Given the description of an element on the screen output the (x, y) to click on. 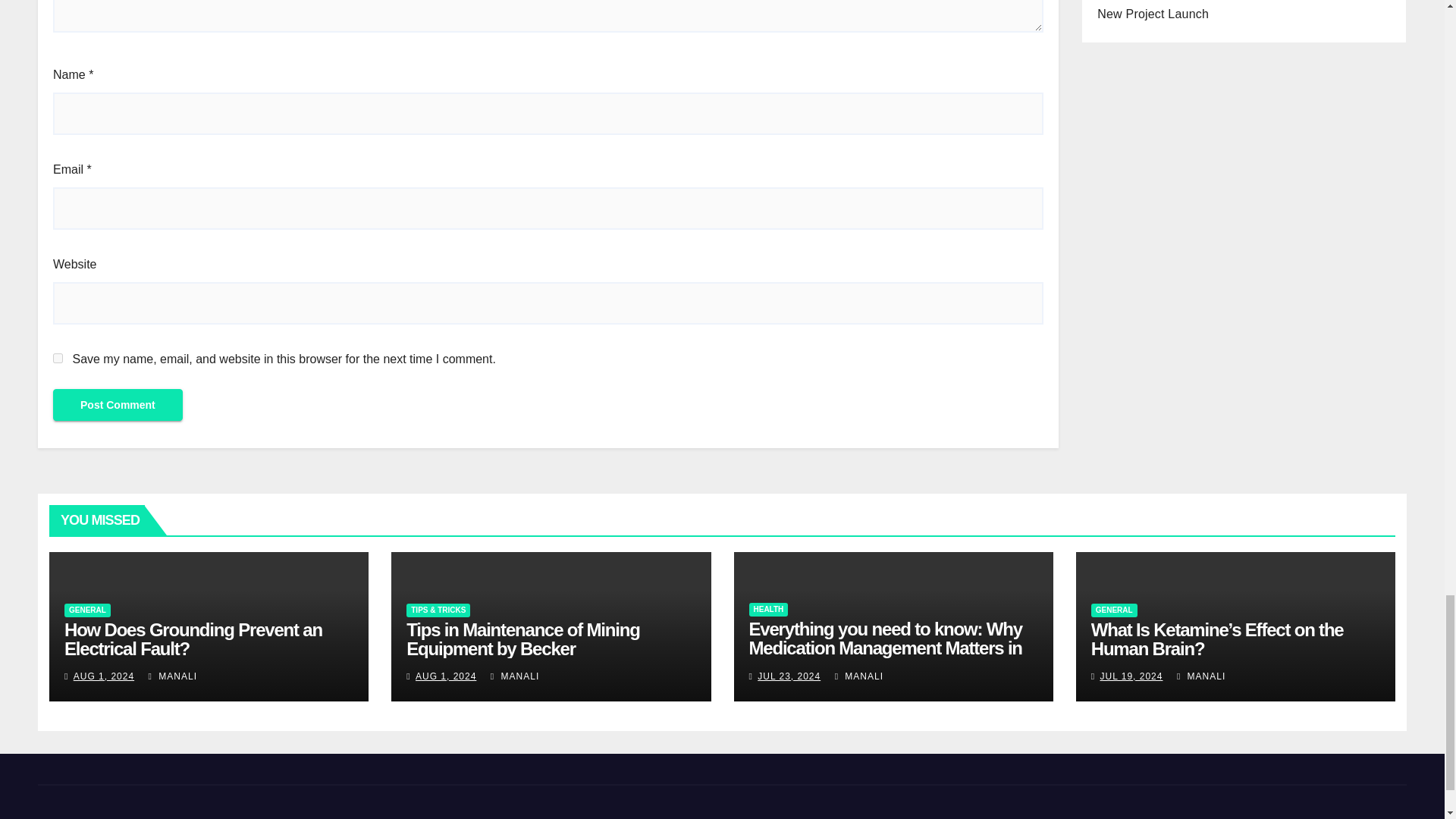
Post Comment (117, 404)
yes (57, 357)
